Given the description of an element on the screen output the (x, y) to click on. 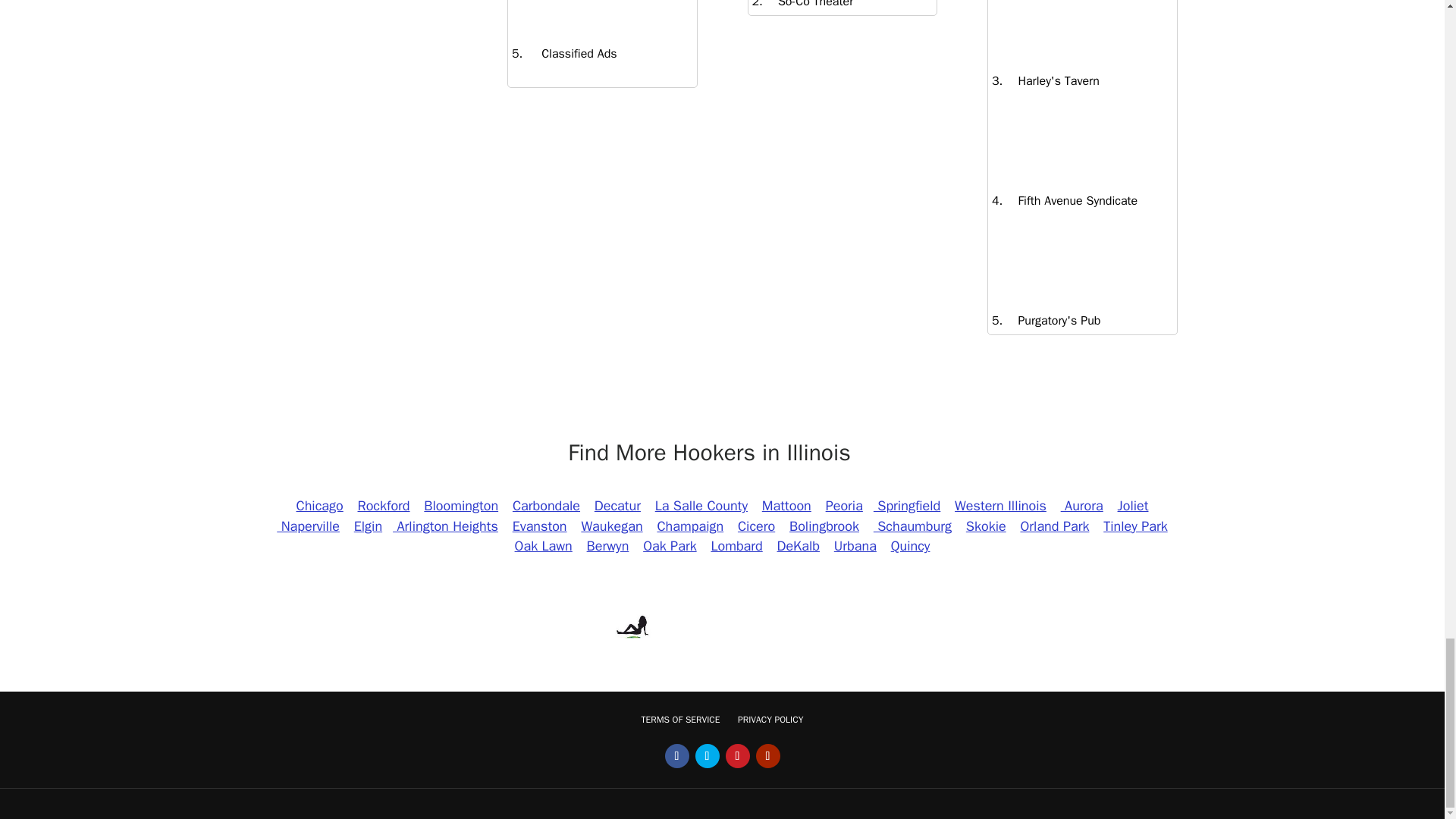
Purgatory's Pub (1051, 320)
Bloomington (461, 505)
La Salle County (700, 505)
Follow on Twitter (706, 755)
Rockford (383, 505)
Decatur (617, 505)
Chicago (320, 505)
Fifth Avenue Syndicate (1070, 200)
Harley's Tavern (1051, 80)
So-Co Theater (807, 4)
Classified Ads (568, 53)
Follow on Facebook (675, 755)
Follow on Youtube (766, 755)
Follow on Pinterest (737, 755)
Carbondale (545, 505)
